Given the description of an element on the screen output the (x, y) to click on. 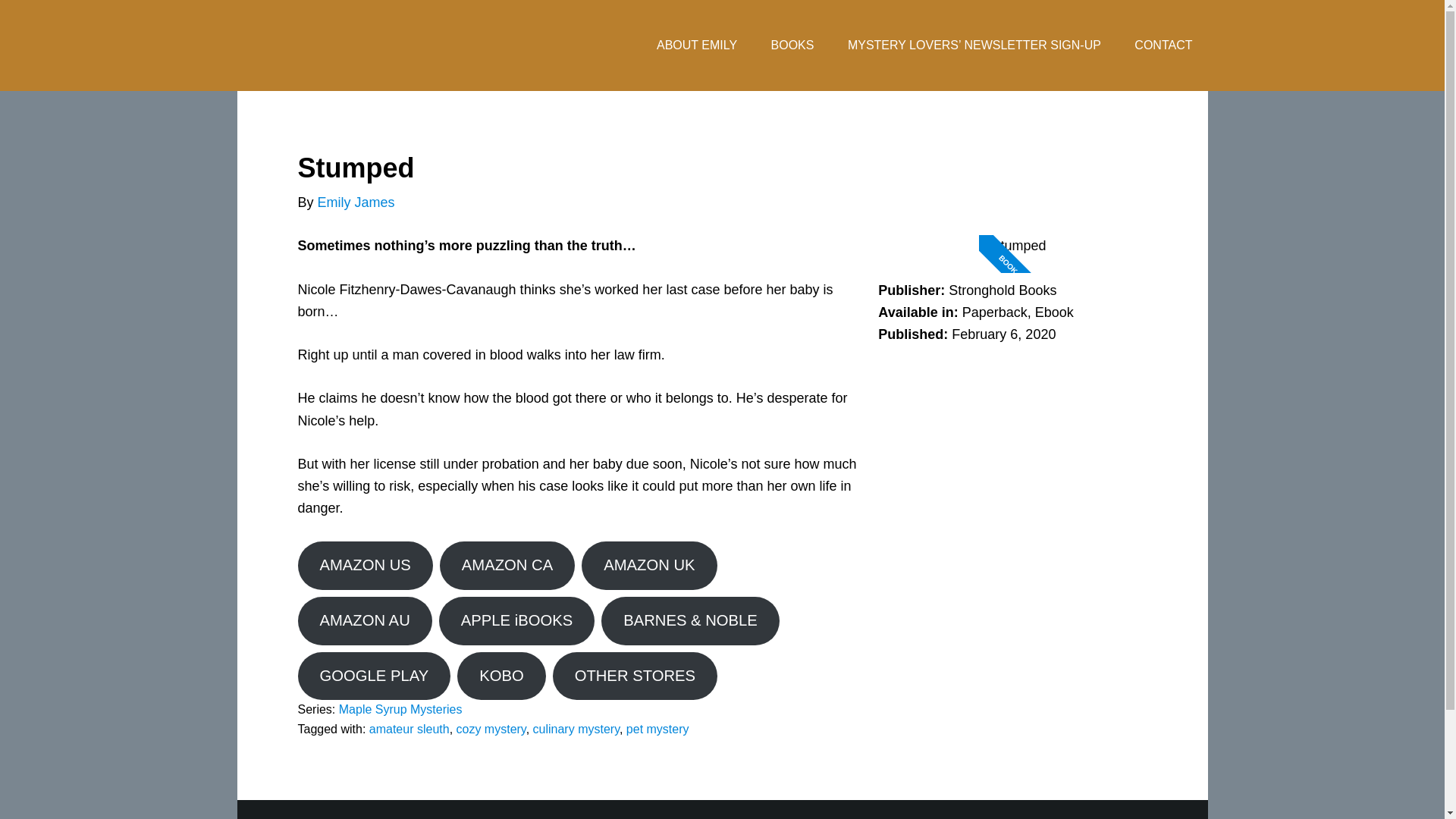
GOOGLE PLAY (373, 676)
AMAZON CA (507, 565)
KOBO (500, 676)
AMAZON US (364, 565)
ABOUT EMILY (697, 45)
Emily James (355, 201)
APPLE iBOOKS (516, 621)
AMAZON UK (648, 565)
pet mystery (657, 728)
